Given the description of an element on the screen output the (x, y) to click on. 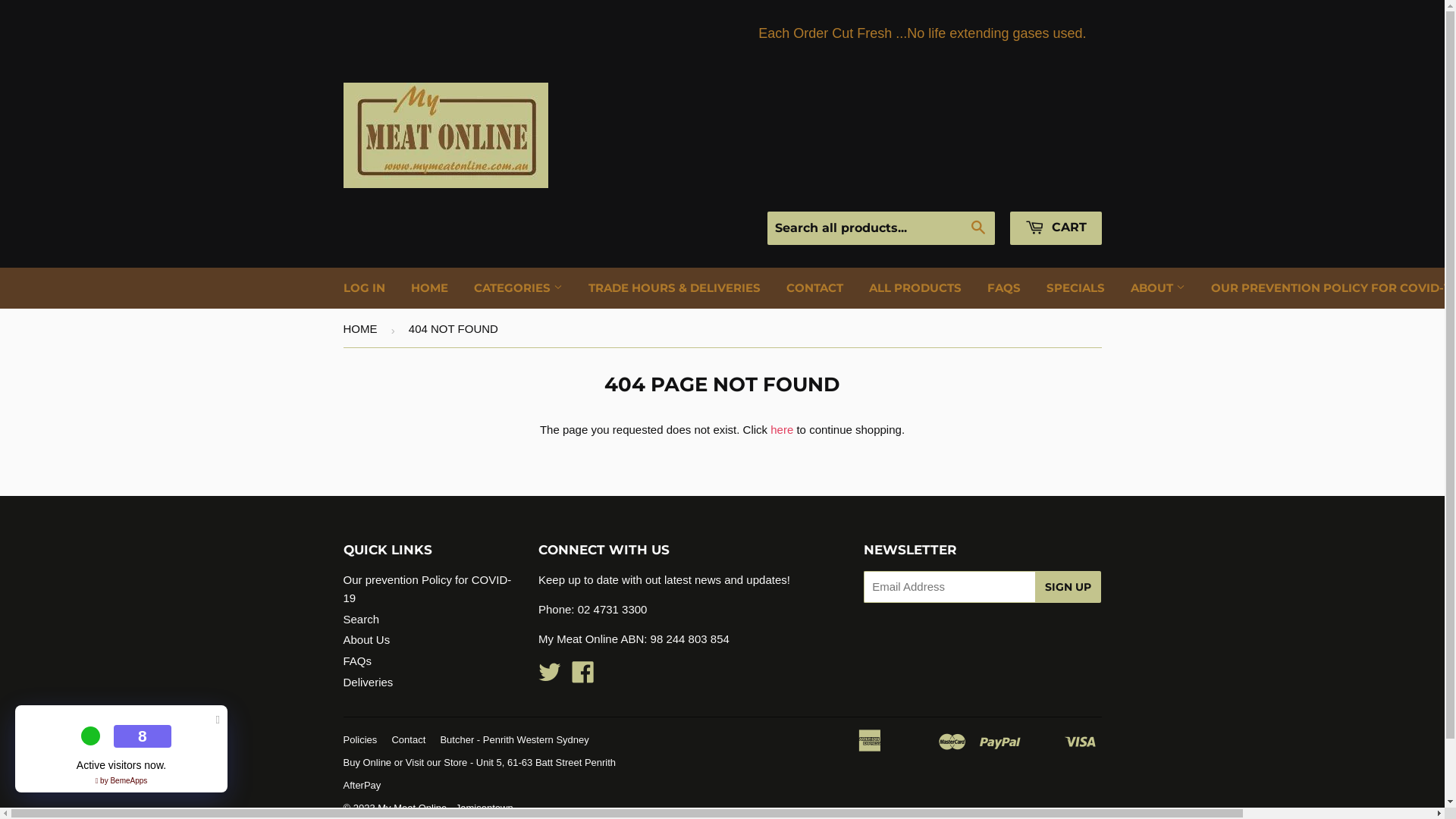
SPECIALS Element type: text (1074, 287)
AfterPay Element type: text (361, 784)
FAQS Element type: text (1003, 287)
Butcher - Penrith Western Sydney Element type: text (513, 739)
FAQs Element type: text (356, 660)
CONTACT Element type: text (814, 287)
Policies Element type: text (359, 739)
LOG IN Element type: text (364, 287)
Sign Up Element type: text (1068, 586)
ABOUT Element type: text (1157, 287)
ALL PRODUCTS Element type: text (914, 287)
HOME Element type: text (428, 287)
Facebook Element type: text (582, 676)
Twitter Element type: text (549, 676)
Our prevention Policy for COVID-19 Element type: text (426, 588)
CART Element type: text (1055, 227)
HOME Element type: text (362, 328)
Search Element type: text (977, 228)
Deliveries Element type: text (367, 681)
CATEGORIES Element type: text (518, 287)
About Us Element type: text (365, 639)
here Element type: text (781, 429)
Search Element type: text (360, 618)
Contact Element type: text (408, 739)
TRADE HOURS & DELIVERIES Element type: text (673, 287)
